Given the description of an element on the screen output the (x, y) to click on. 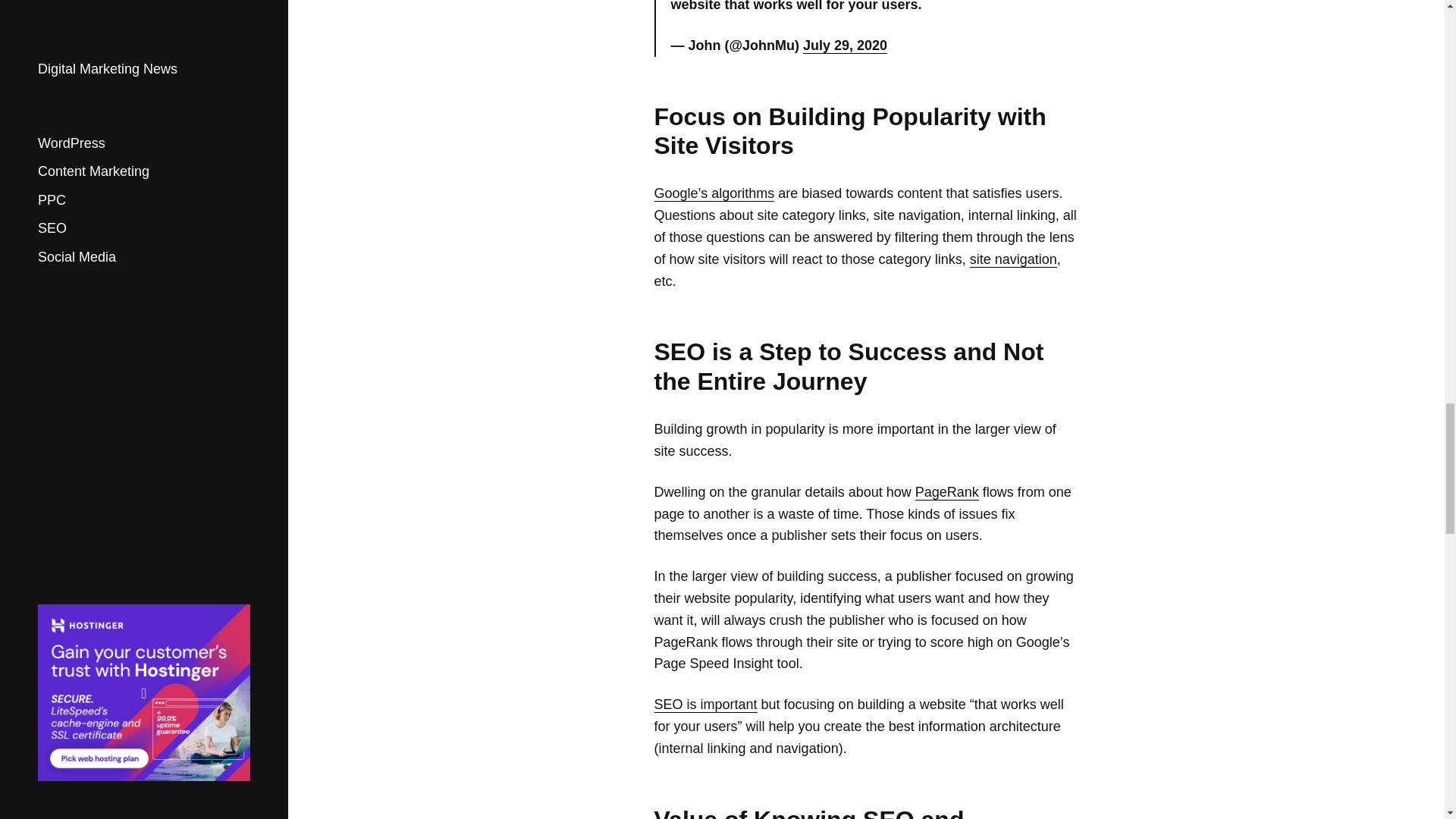
July 29, 2020 (844, 45)
SEO is important (705, 704)
site navigation (1013, 259)
PageRank (946, 492)
